Given the description of an element on the screen output the (x, y) to click on. 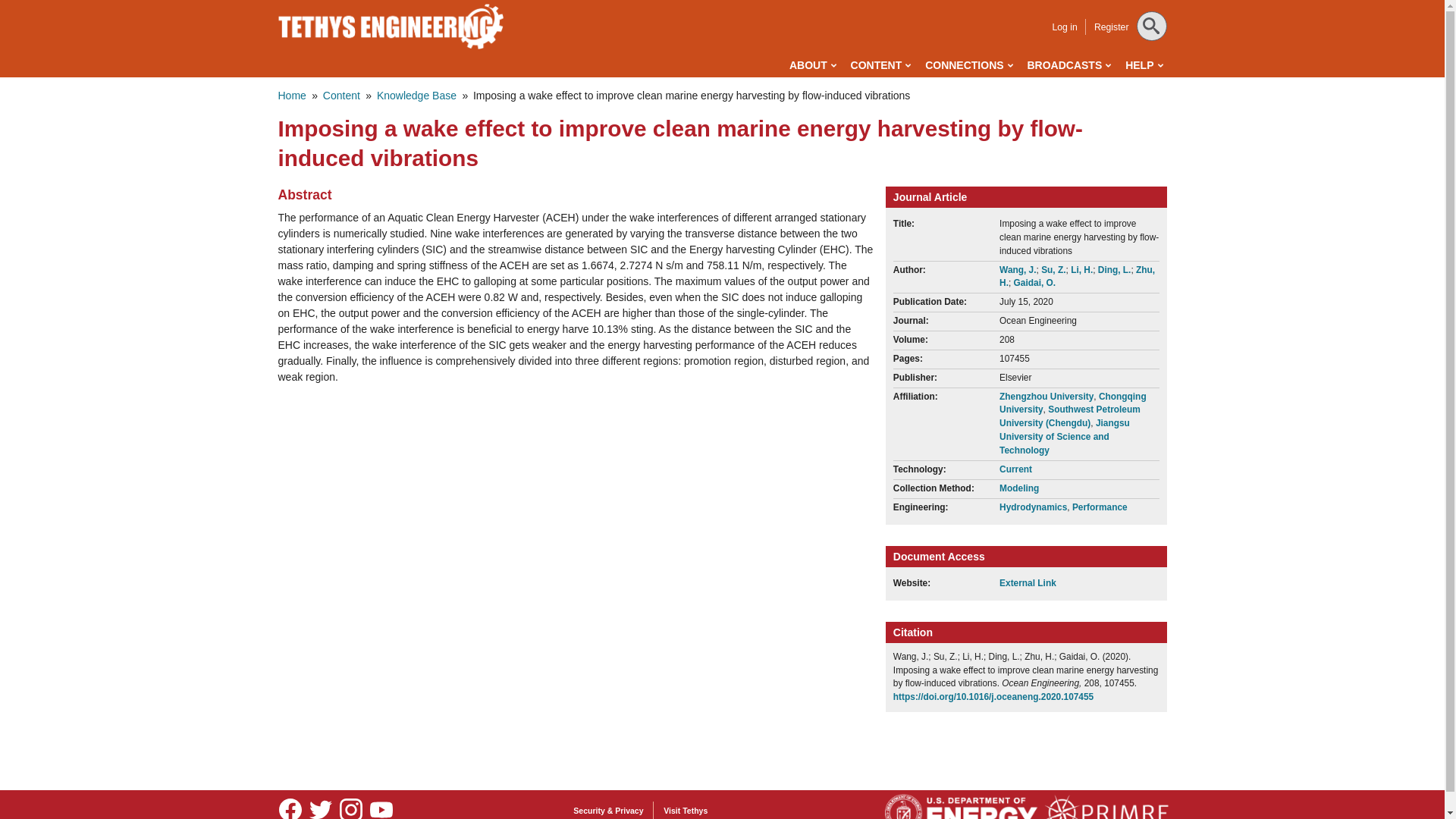
YouTube logo (381, 806)
Home (390, 26)
Facebook logo (290, 806)
Skip to main content (654, 3)
Instagram logo (350, 806)
Twitter logo (319, 806)
Search (31, 14)
Log in (1064, 27)
CONTENT (880, 65)
